Given the description of an element on the screen output the (x, y) to click on. 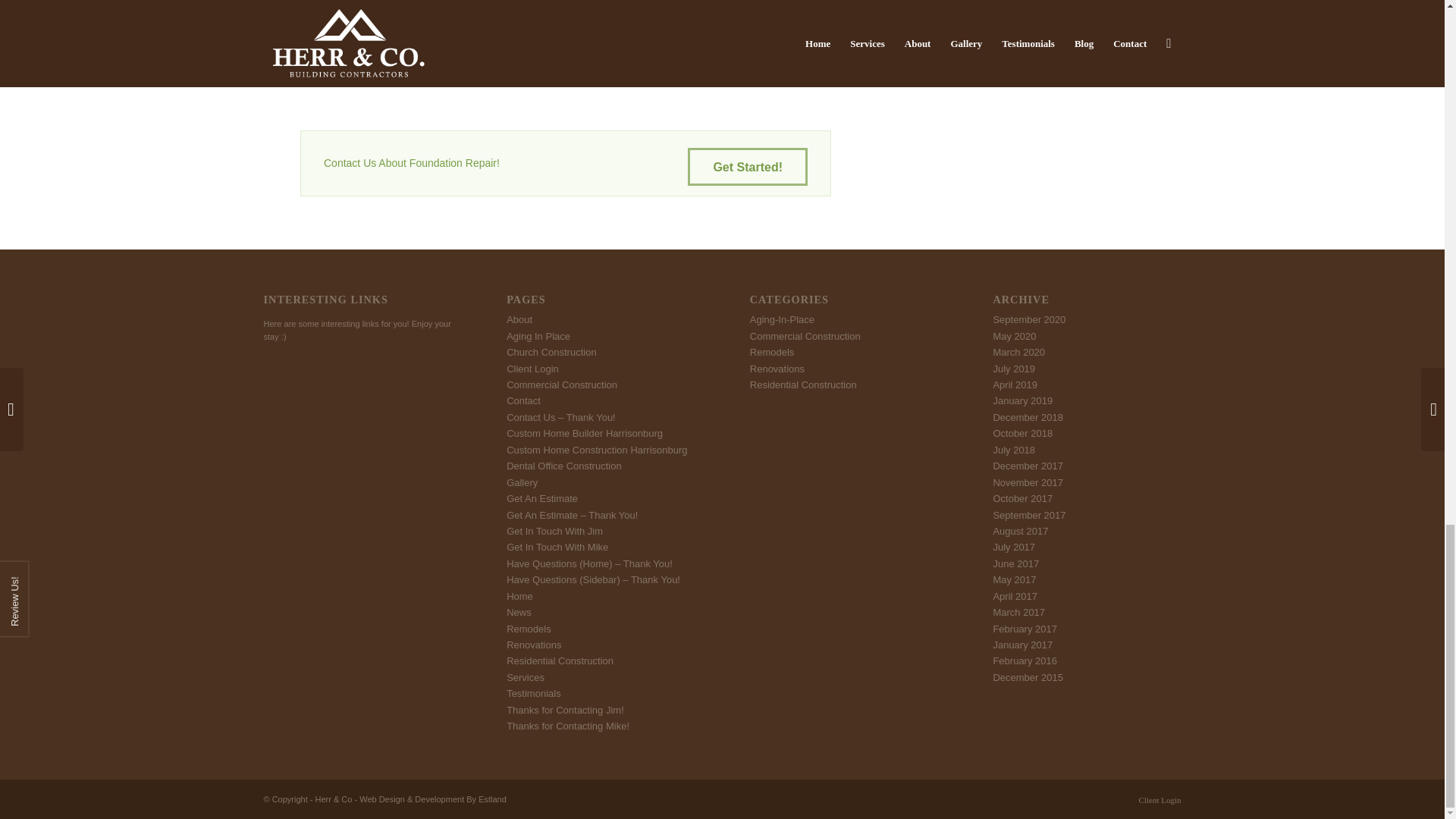
Mike (309, 59)
remodeling (522, 59)
founded in 1988 (394, 43)
